Given the description of an element on the screen output the (x, y) to click on. 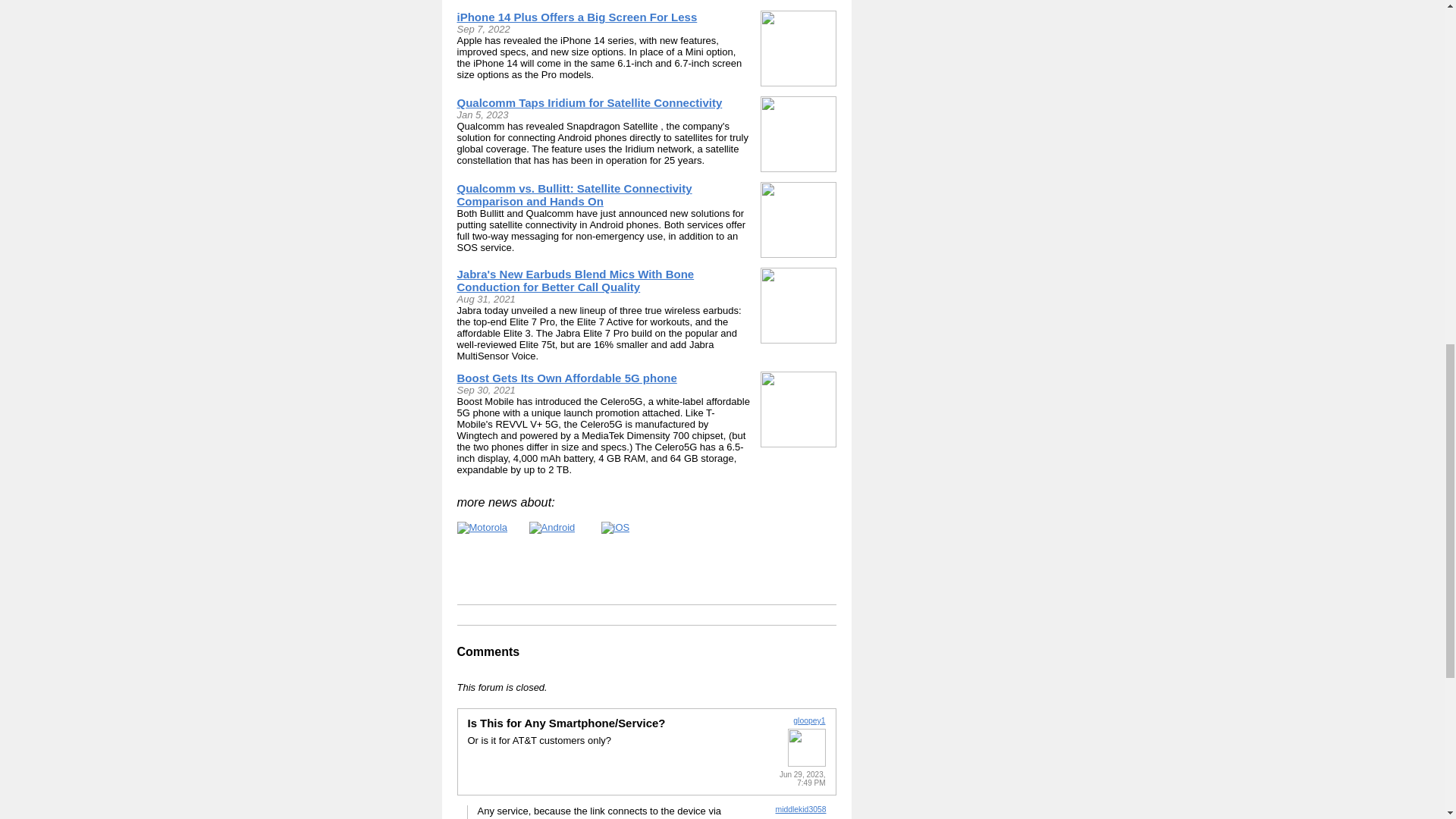
gloopey1 (809, 720)
Comments (488, 651)
middlekid3058 (799, 809)
iOS (613, 527)
Motorola (481, 527)
Android (552, 527)
